Given the description of an element on the screen output the (x, y) to click on. 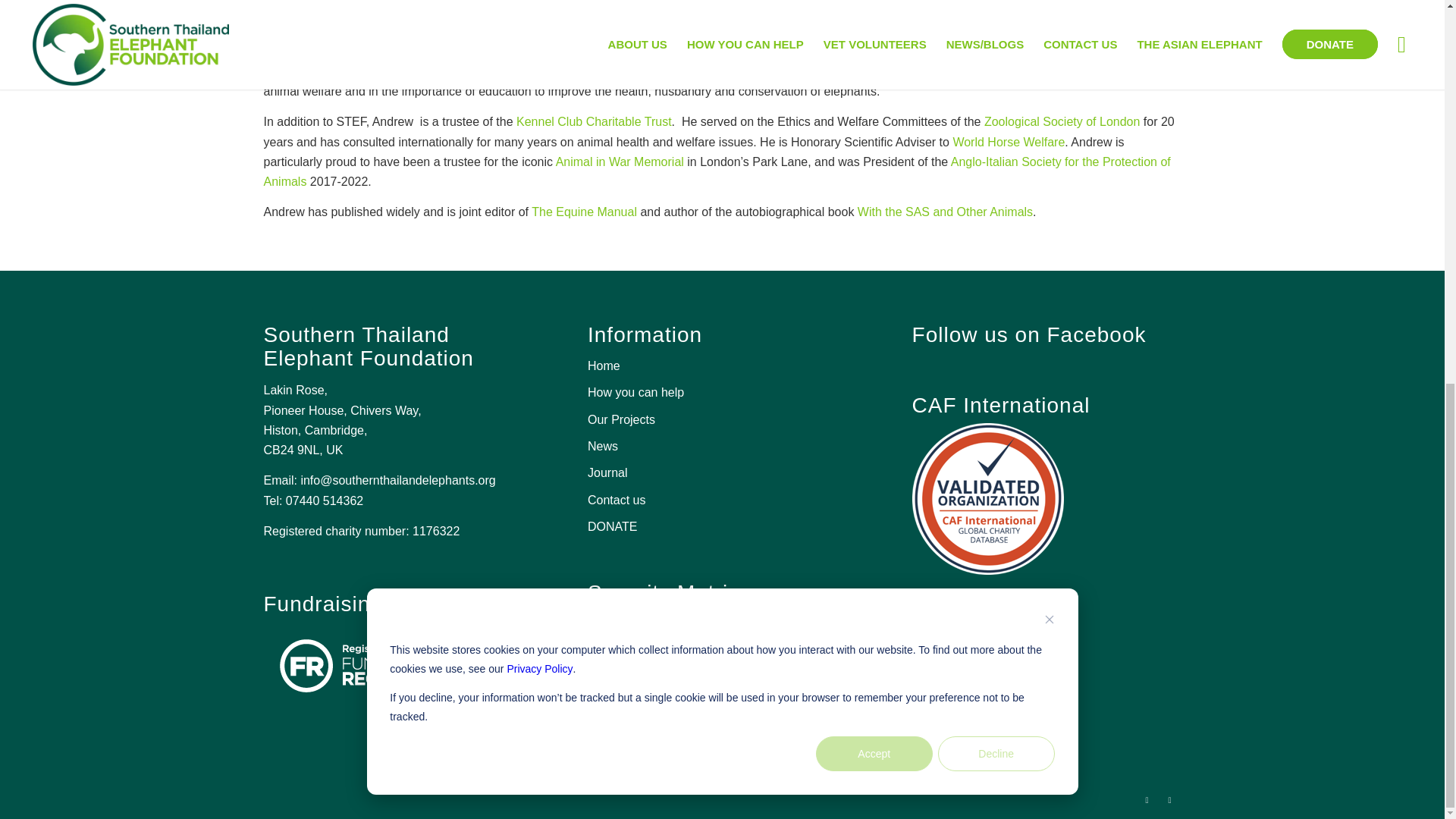
With the SAS and Other Animals (944, 211)
Home (722, 366)
News (722, 447)
Zoological Society of London (1062, 121)
Kennel Club Charitable Trust (593, 121)
Contact us (722, 500)
Instagram (1169, 799)
Journal (722, 473)
World Horse Welfare (1008, 141)
How you can help (722, 393)
DONATE (722, 527)
Animal in War Memorial (620, 161)
Our Projects (722, 420)
The Equine Manual (584, 211)
Facebook (1146, 799)
